Given the description of an element on the screen output the (x, y) to click on. 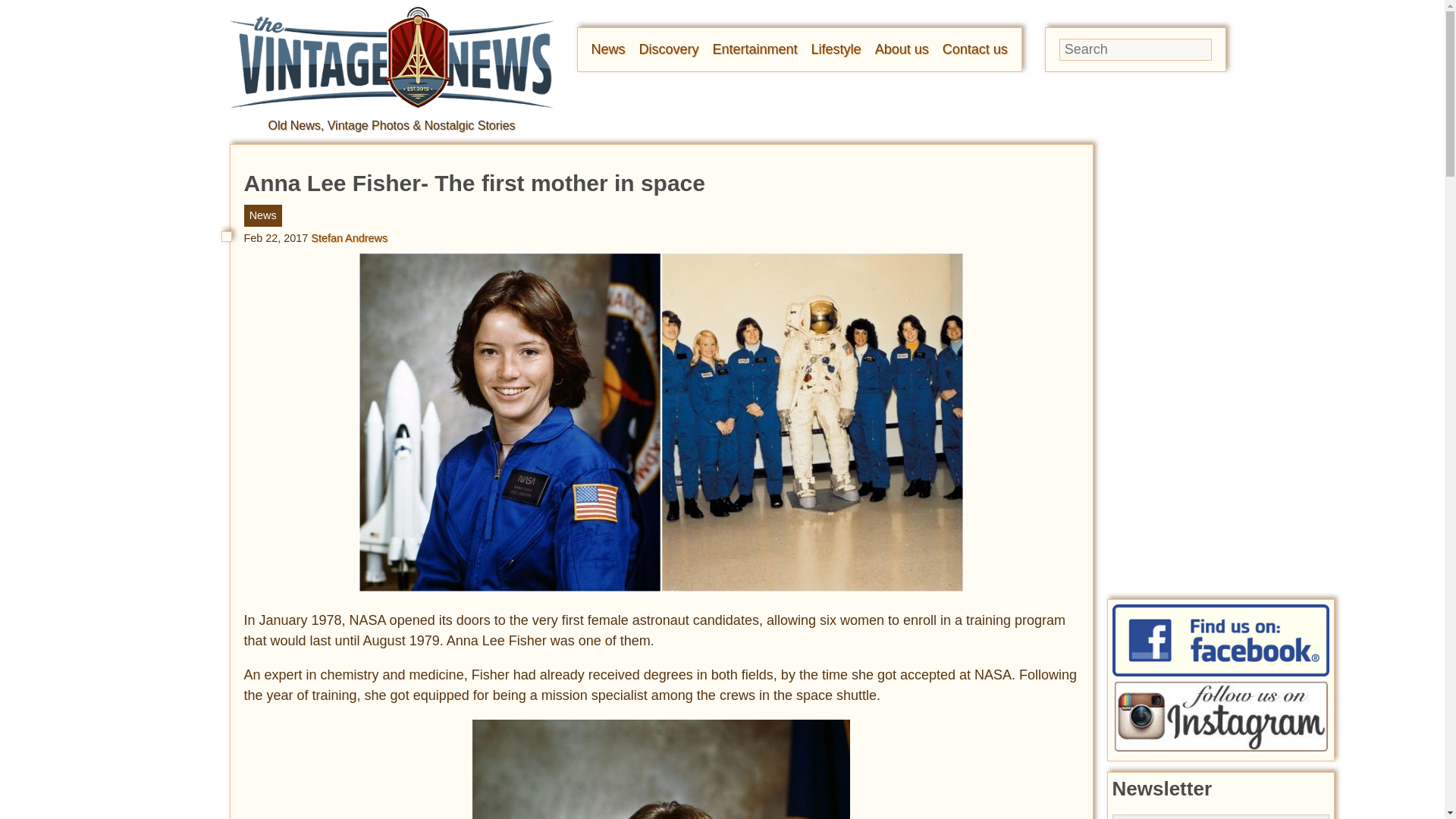
News (608, 48)
Lifestyle (835, 48)
About us (901, 48)
Entertainment (755, 48)
Contact us (974, 48)
Discovery (668, 48)
